Given the description of an element on the screen output the (x, y) to click on. 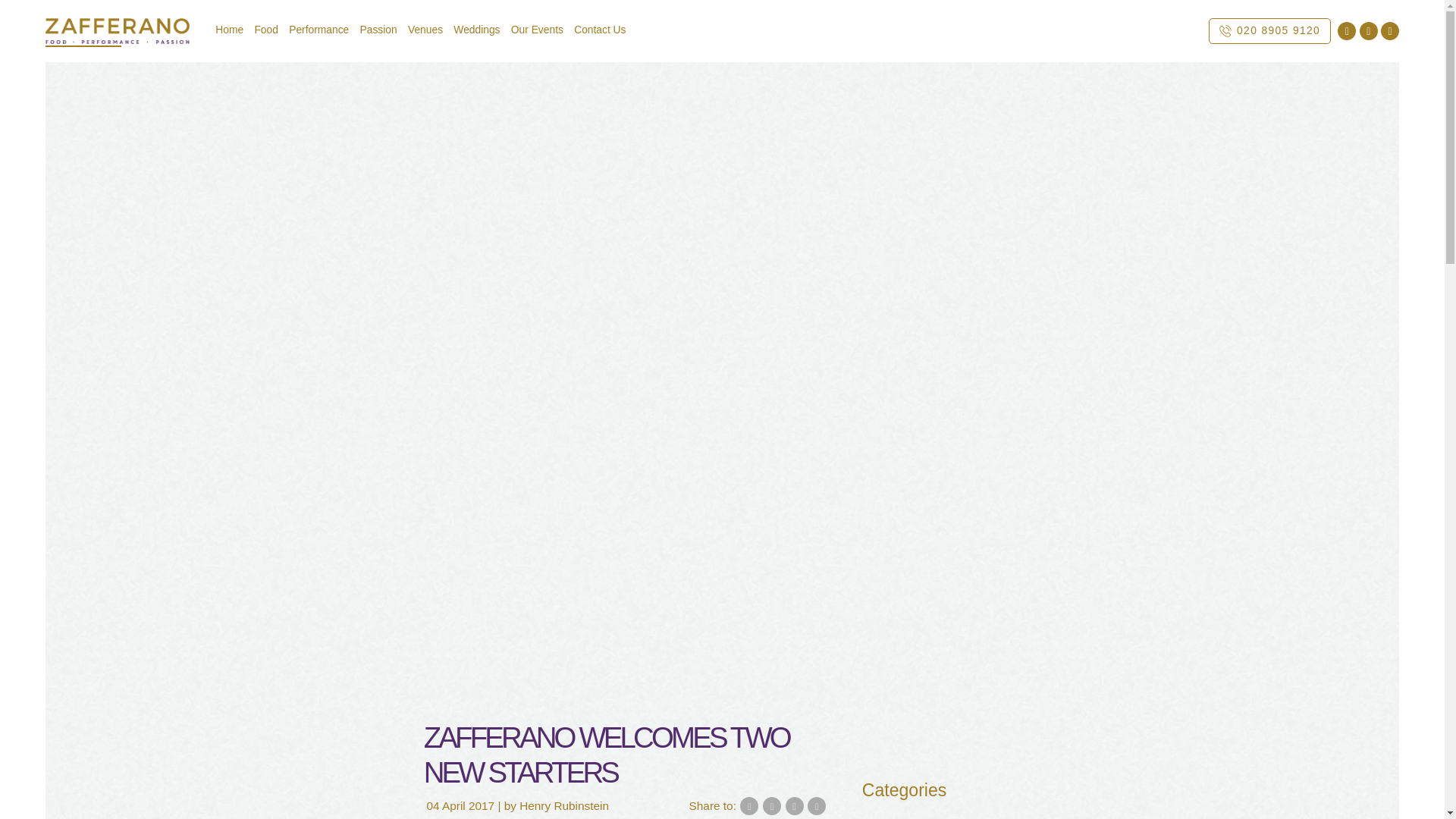
Performance (995, 817)
Home (229, 30)
Venues (425, 30)
Food (877, 817)
Performance (318, 30)
Weddings (476, 30)
Food (265, 30)
020 8905 9120 (1269, 31)
Our Events (536, 30)
Passion (378, 30)
Passion (925, 817)
Zafferano (1068, 817)
Contact Us (599, 30)
